Given the description of an element on the screen output the (x, y) to click on. 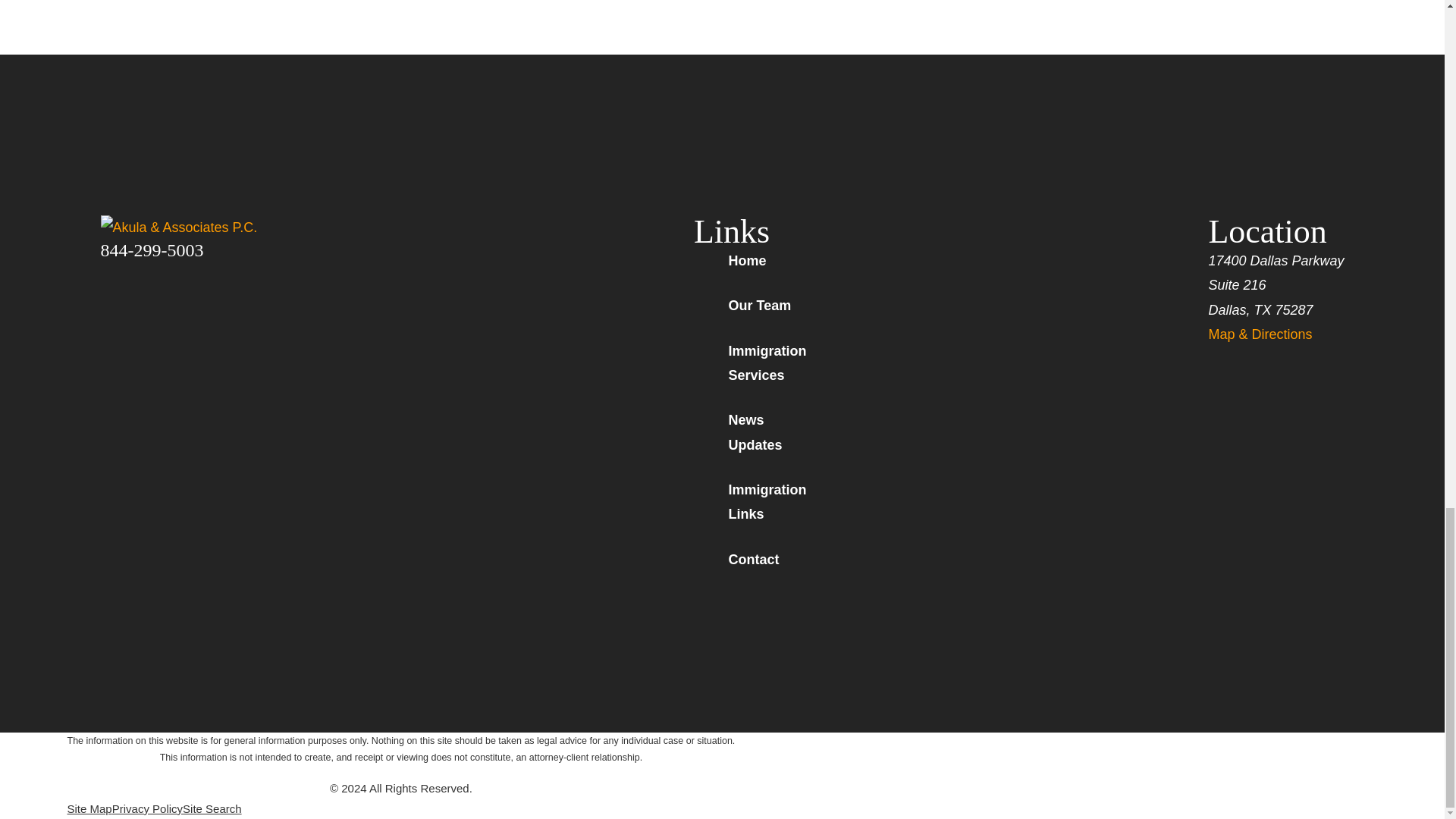
Twitter (148, 273)
Facebook (109, 273)
LinkedIn (188, 273)
Google Business Profile (228, 273)
Home (208, 227)
